Given the description of an element on the screen output the (x, y) to click on. 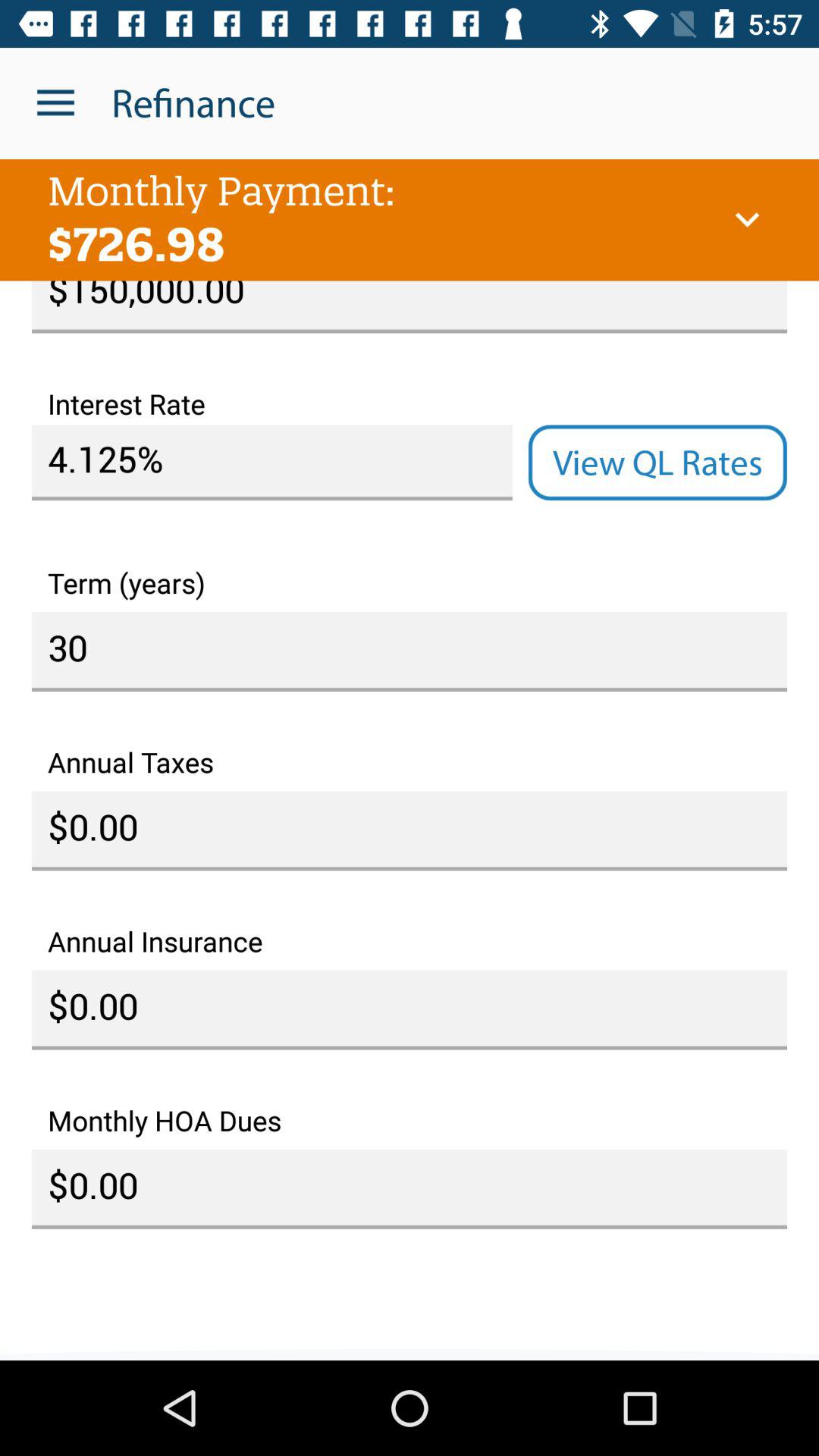
choose the item above monthly payment: (55, 103)
